Given the description of an element on the screen output the (x, y) to click on. 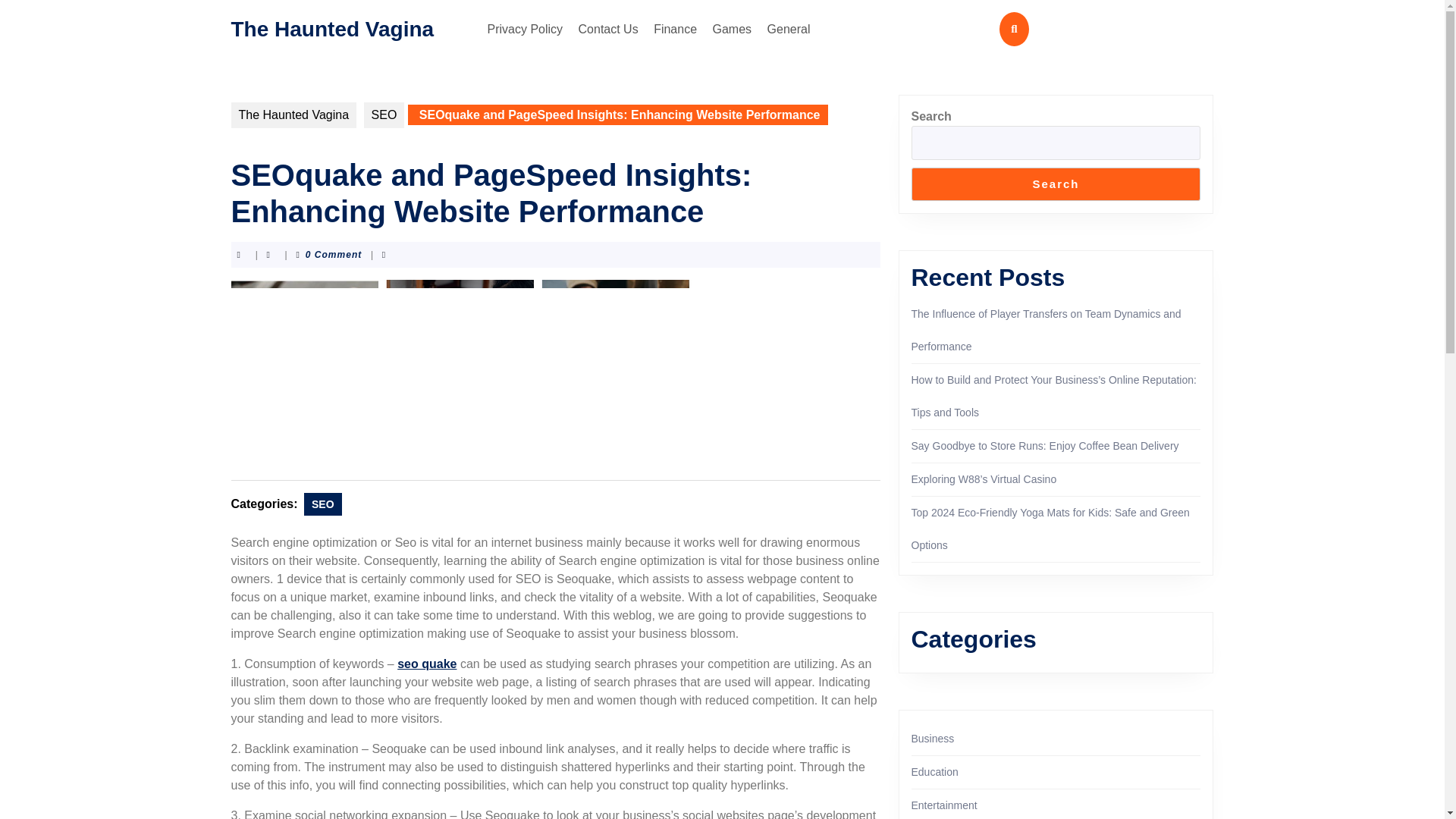
The Haunted Vagina (331, 28)
Business (933, 738)
seo quake (427, 663)
SEO (384, 114)
Search (1056, 183)
General (788, 28)
Say Goodbye to Store Runs: Enjoy Coffee Bean Delivery (1045, 445)
Contact Us (608, 28)
The Haunted Vagina (293, 114)
Privacy Policy (524, 28)
Finance (675, 28)
Games (732, 28)
SEO (323, 504)
